Given the description of an element on the screen output the (x, y) to click on. 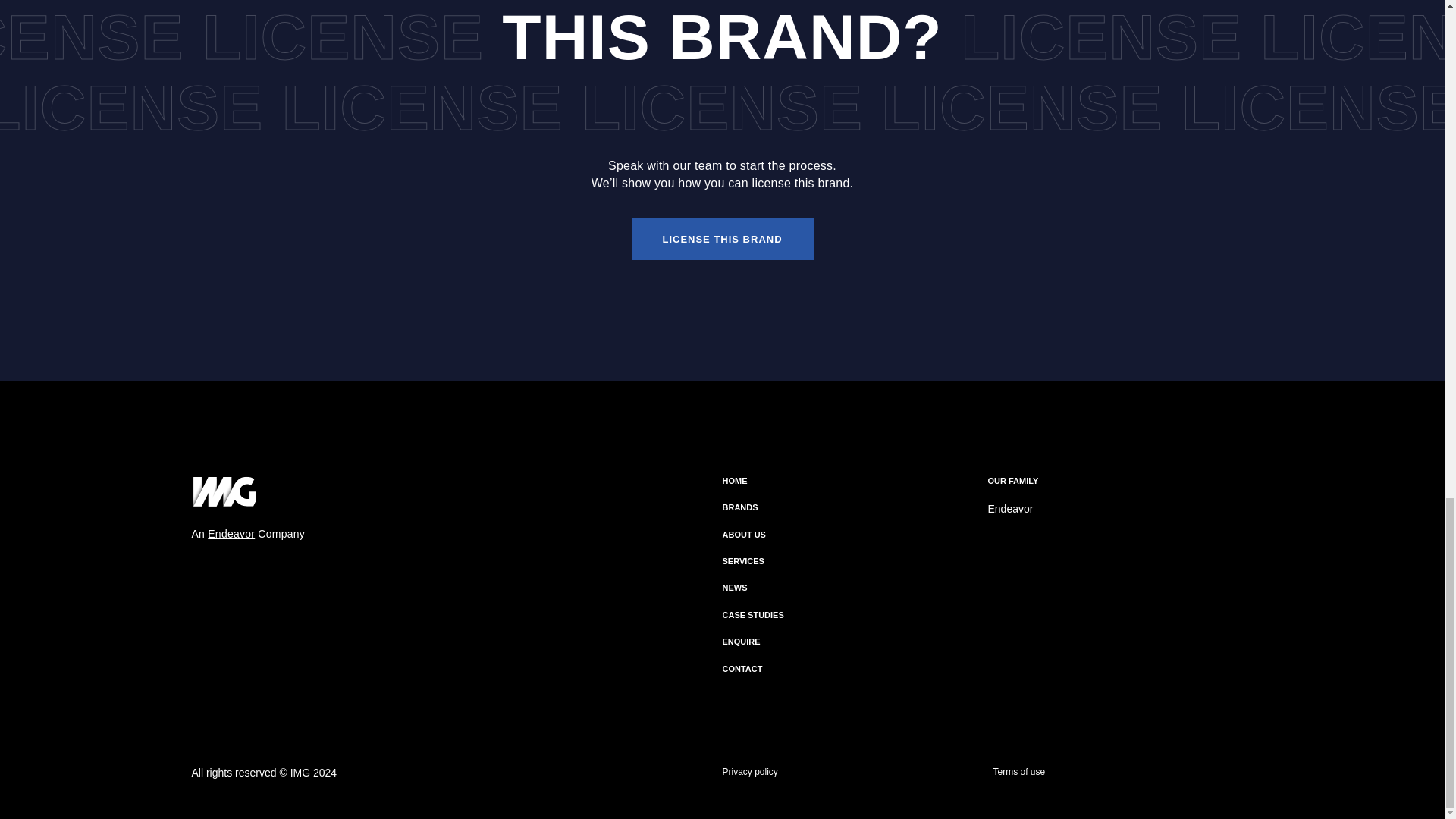
ABOUT US (743, 533)
LICENSE THIS BRAND (721, 239)
CONTACT (741, 668)
Terms of use (1018, 771)
SERVICES (742, 560)
ENQUIRE (741, 641)
NEWS (734, 587)
HOME (734, 480)
CASE STUDIES (752, 614)
Endeavor (1009, 508)
Privacy policy (749, 771)
Endeavor (231, 533)
BRANDS (739, 506)
